Given the description of an element on the screen output the (x, y) to click on. 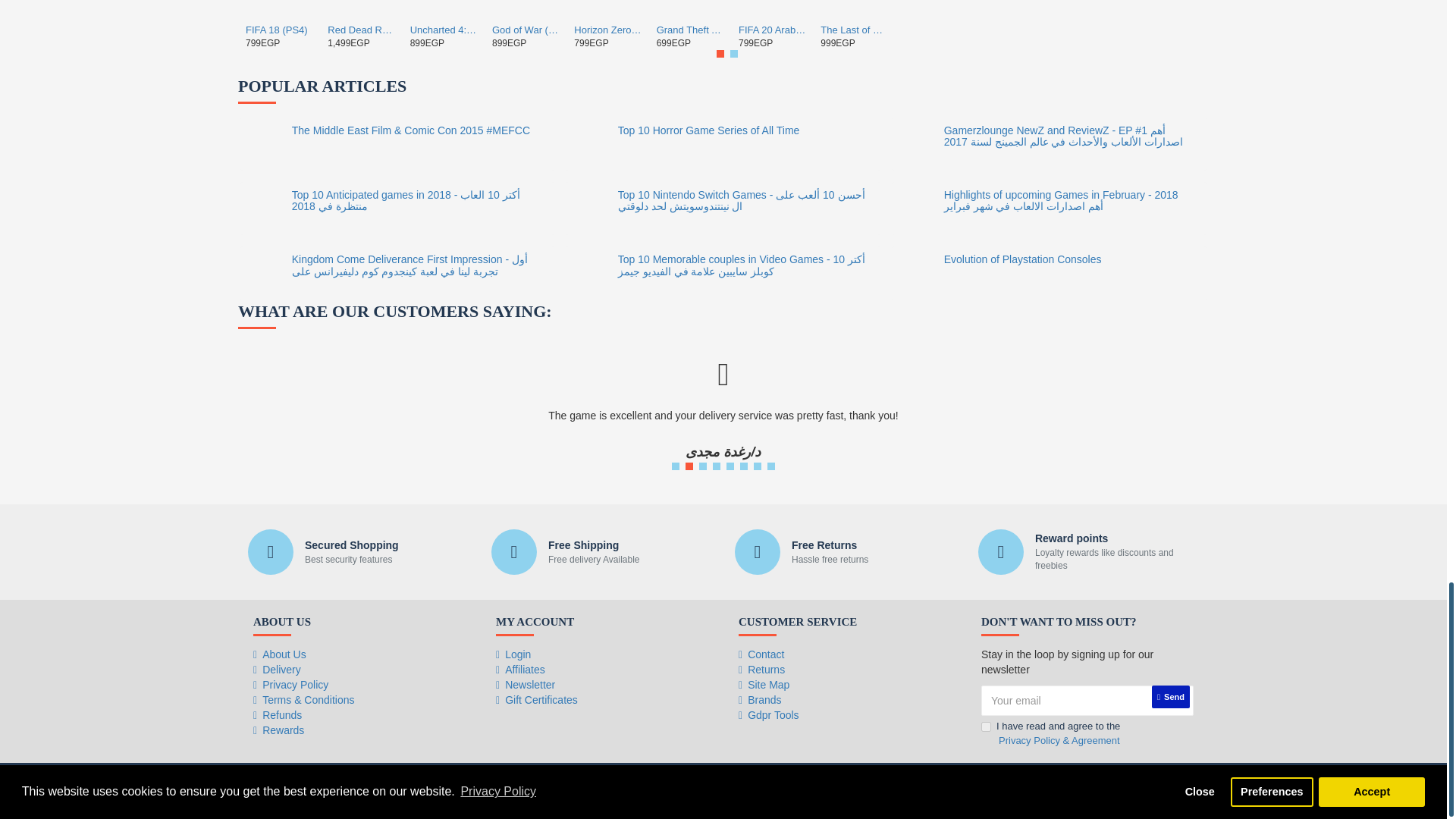
1 (986, 726)
